Given the description of an element on the screen output the (x, y) to click on. 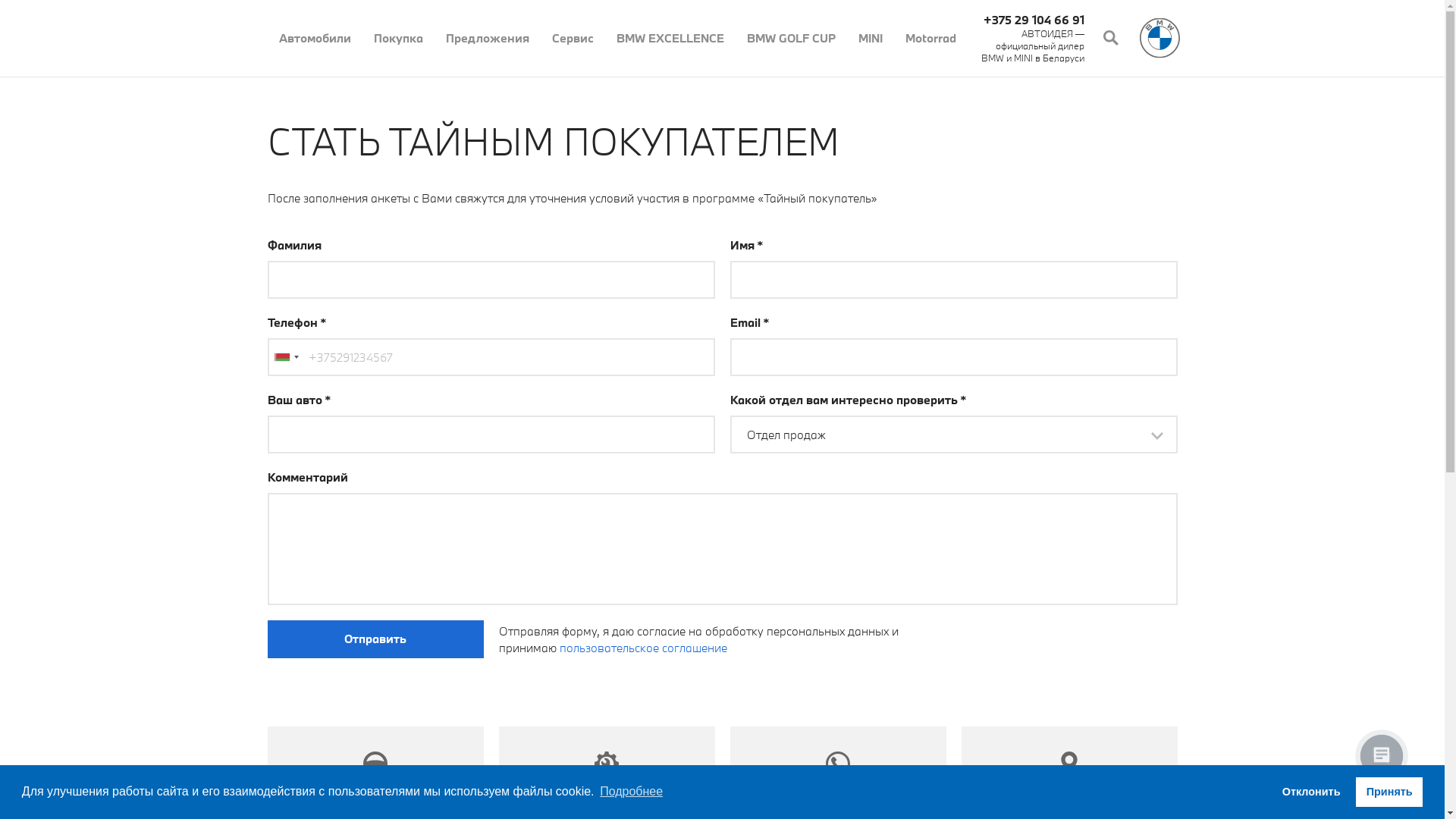
BMW EXCELLENCE Element type: text (670, 37)
Motorrad Element type: text (929, 37)
+375 29 104 66 91 Element type: text (1032, 19)
BMW GOLF CUP Element type: text (791, 37)
MINI Element type: text (869, 37)
